Given the description of an element on the screen output the (x, y) to click on. 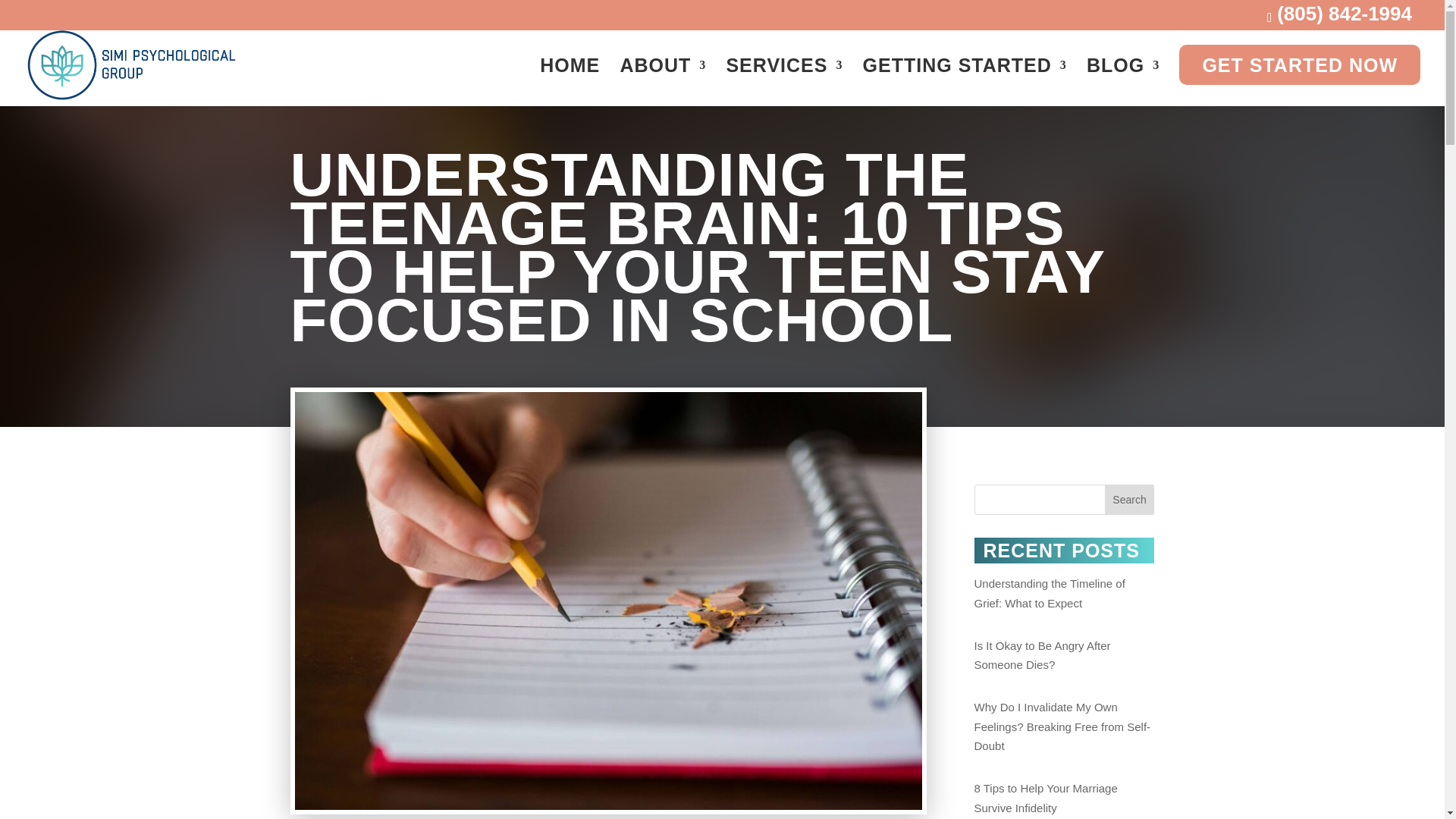
HOME (569, 78)
SERVICES (784, 78)
ABOUT (663, 78)
Search (1129, 499)
